Given the description of an element on the screen output the (x, y) to click on. 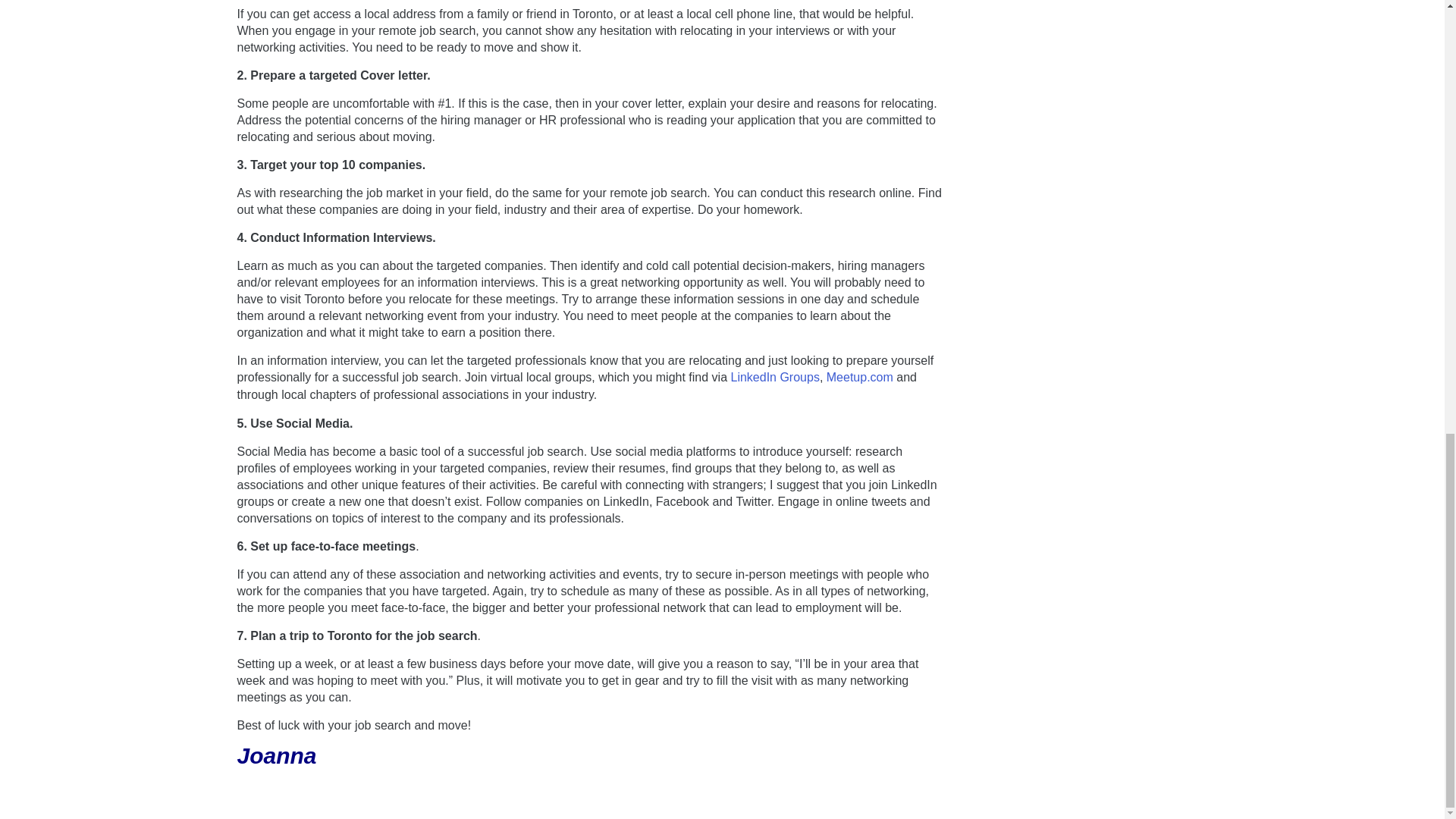
Meetup.com (860, 377)
meetup.com (860, 377)
LinkedIn Groups (774, 377)
HOW TO: Use LinkedIn Groups to Enhance Your Job Search (774, 377)
